Given the description of an element on the screen output the (x, y) to click on. 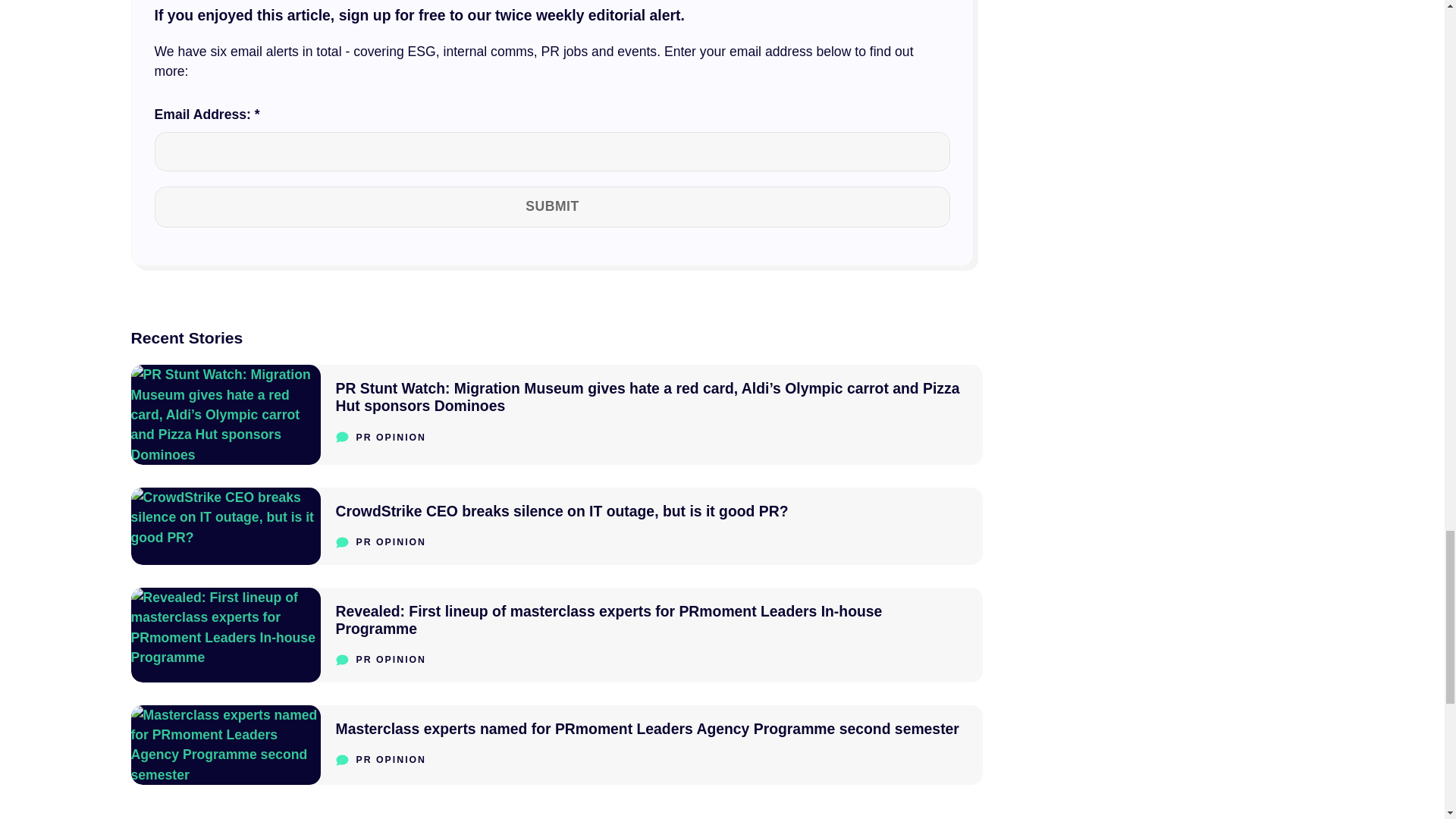
SUBMIT (552, 206)
SUBMIT (552, 206)
